Given the description of an element on the screen output the (x, y) to click on. 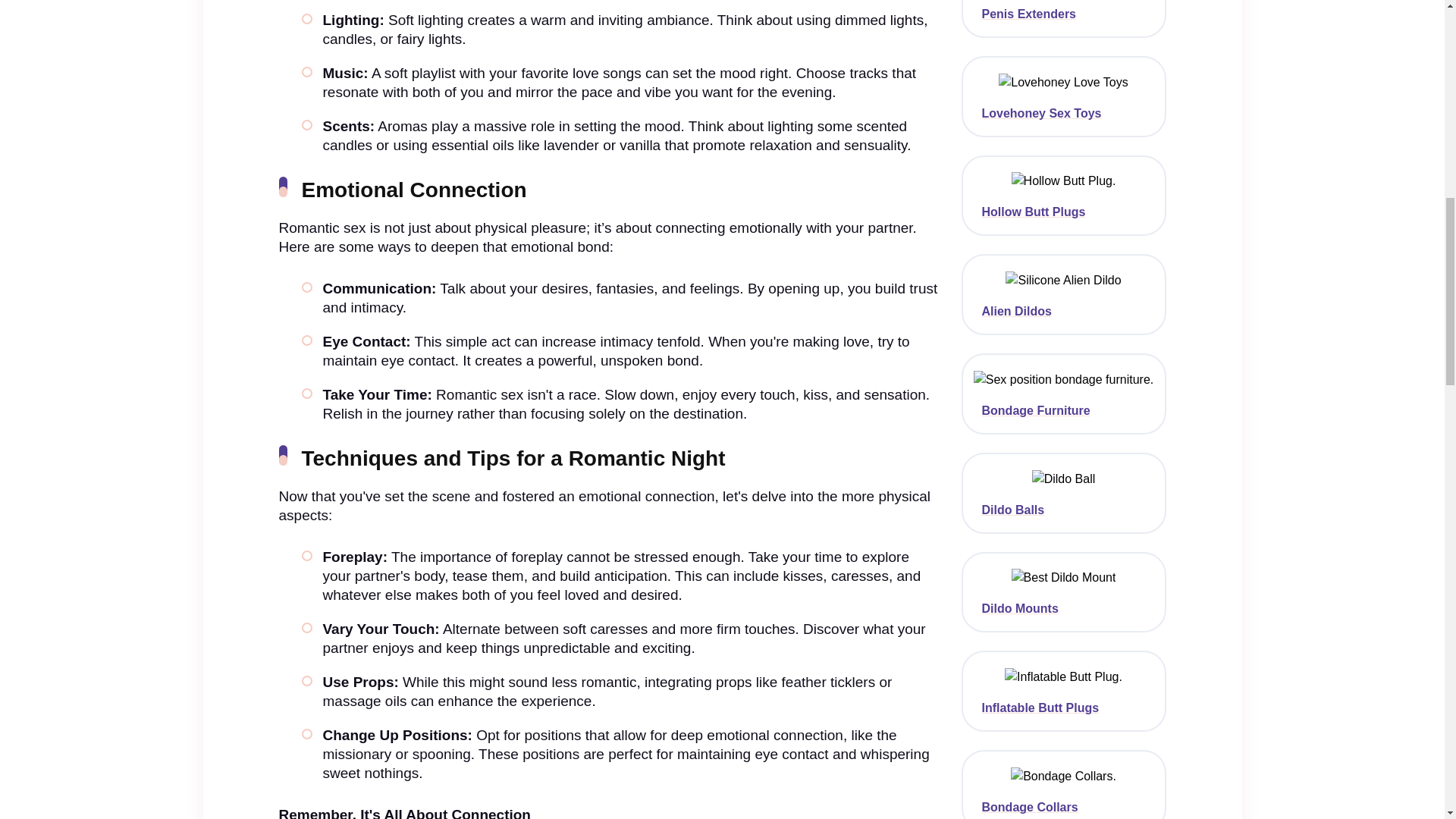
Dildo Mounts (1063, 608)
Alien Dildos (1063, 311)
Bondage Furniture (1063, 410)
Hollow Butt Plugs (1063, 212)
Bondage Collars (1063, 807)
Inflatable Butt Plugs (1063, 707)
Lovehoney Sex Toys (1063, 113)
Penis Extenders (1063, 14)
Dildo Balls (1063, 509)
